Given the description of an element on the screen output the (x, y) to click on. 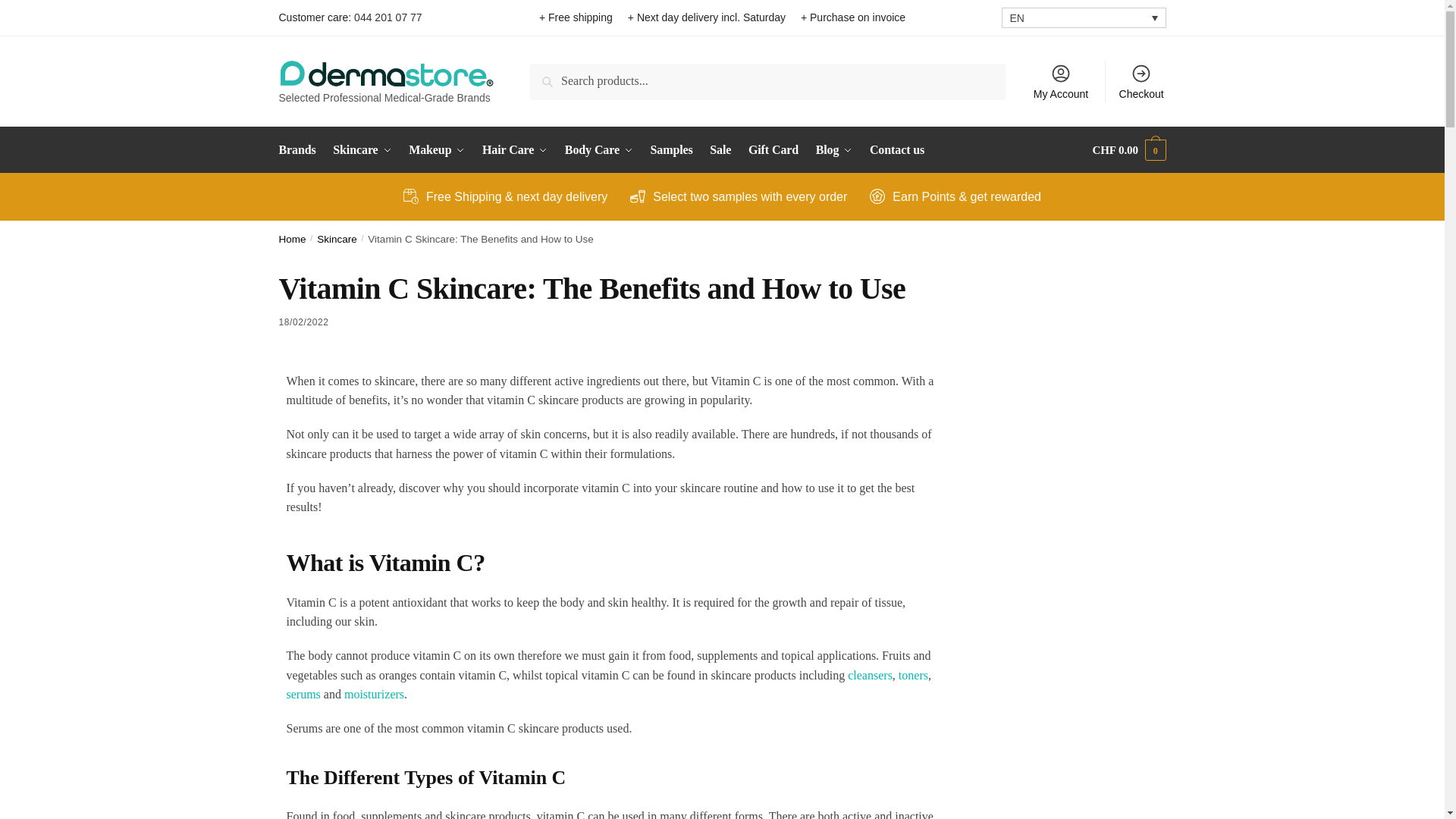
Skincare (361, 149)
Search (550, 74)
Makeup (436, 149)
My Account (1061, 80)
Brands (301, 149)
044 201 07 77 (387, 17)
EN (1083, 17)
View your shopping cart (1129, 149)
Checkout (1141, 80)
